Given the description of an element on the screen output the (x, y) to click on. 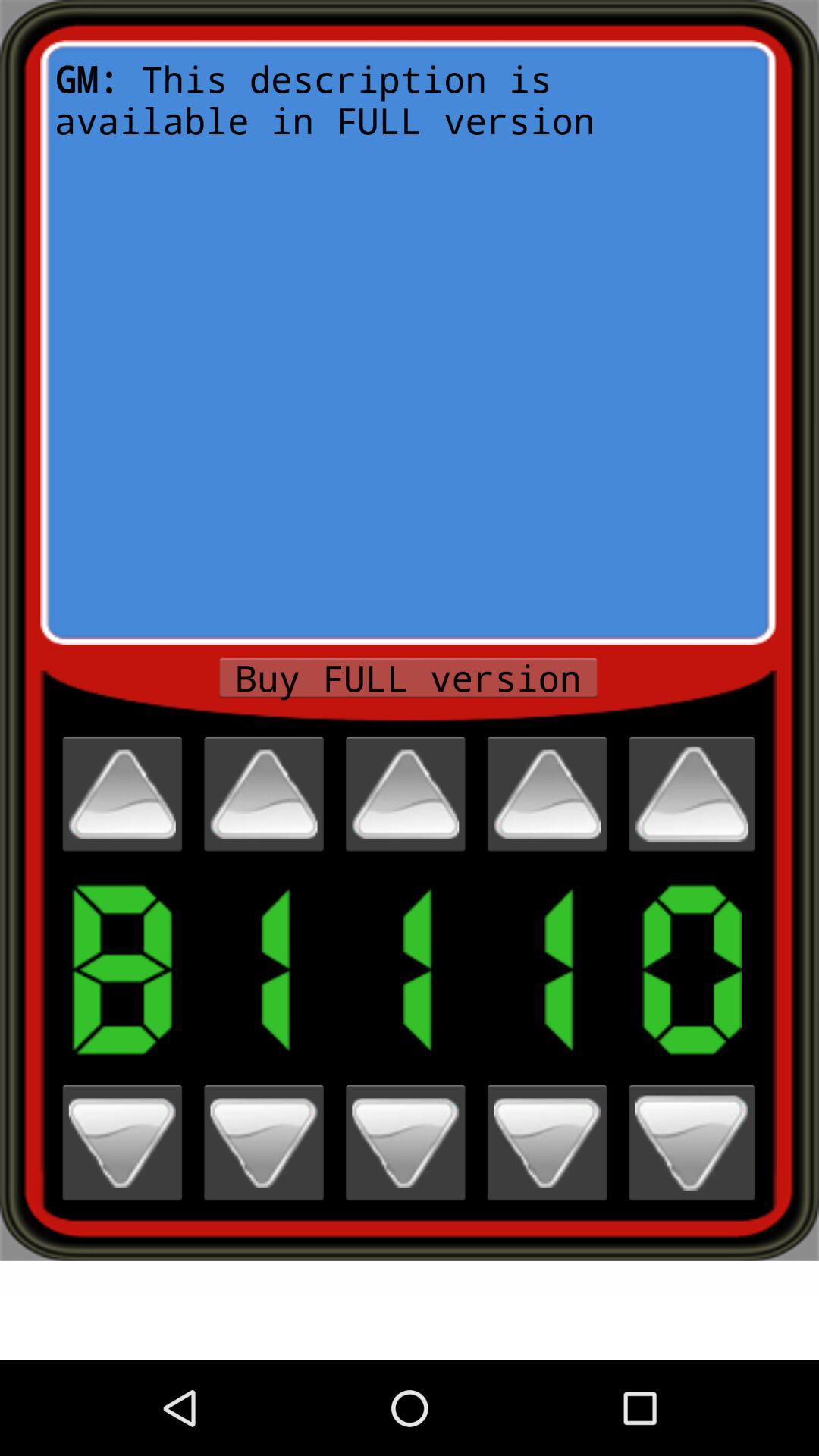
decrease number 3 (405, 1142)
